Given the description of an element on the screen output the (x, y) to click on. 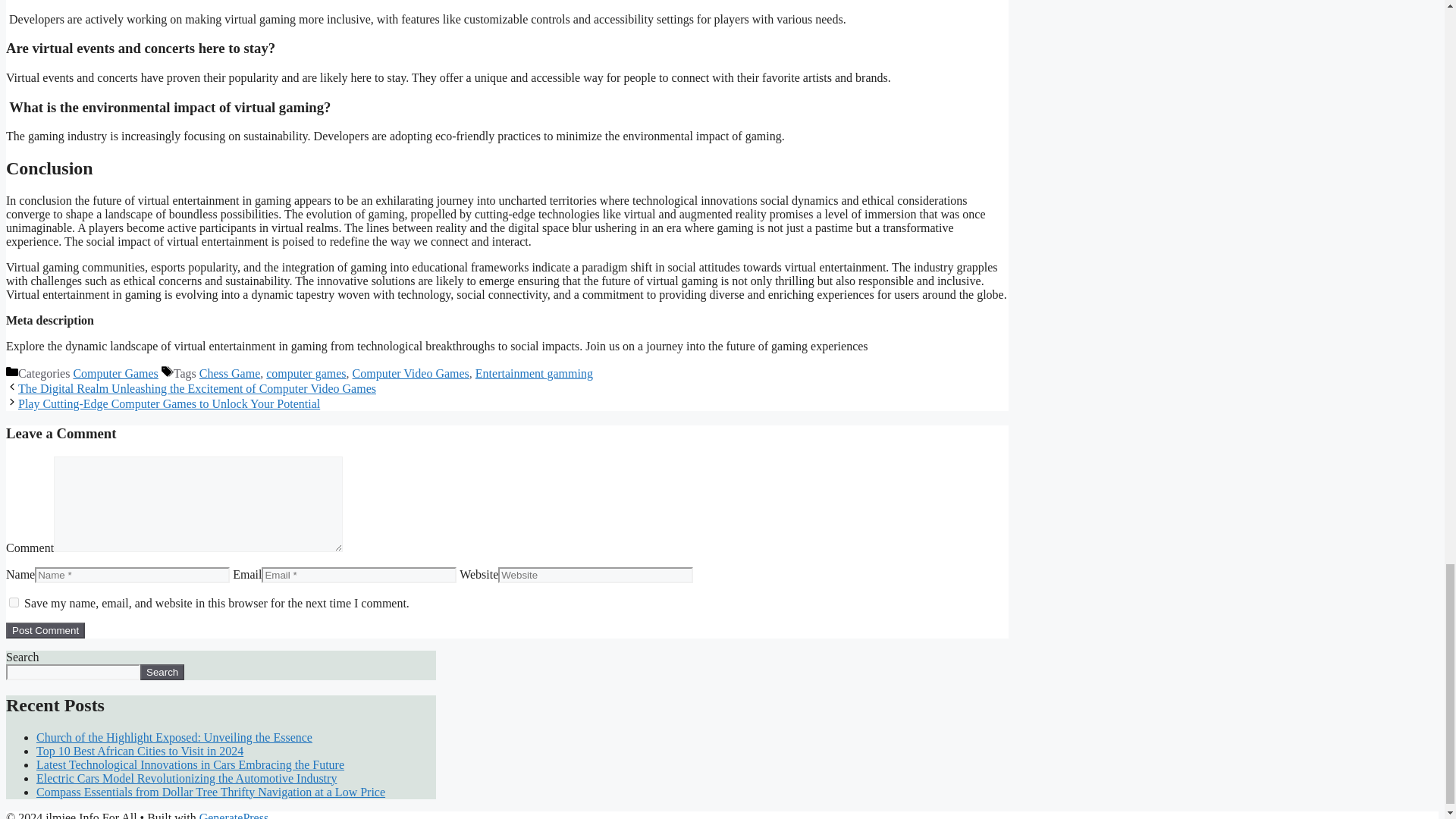
Church of the Highlight Exposed: Unveiling the Essence (174, 736)
Computer Video Games (410, 373)
Electric Cars Model Revolutionizing the Automotive Industry (186, 777)
Post Comment (44, 630)
Play Cutting-Edge Computer Games to Unlock Your Potential (168, 403)
Chess Game (229, 373)
Entertainment gamming (534, 373)
Top 10 Best African Cities to Visit in 2024 (139, 749)
Computer Games (114, 373)
computer games (306, 373)
Search (161, 672)
yes (13, 602)
